Given the description of an element on the screen output the (x, y) to click on. 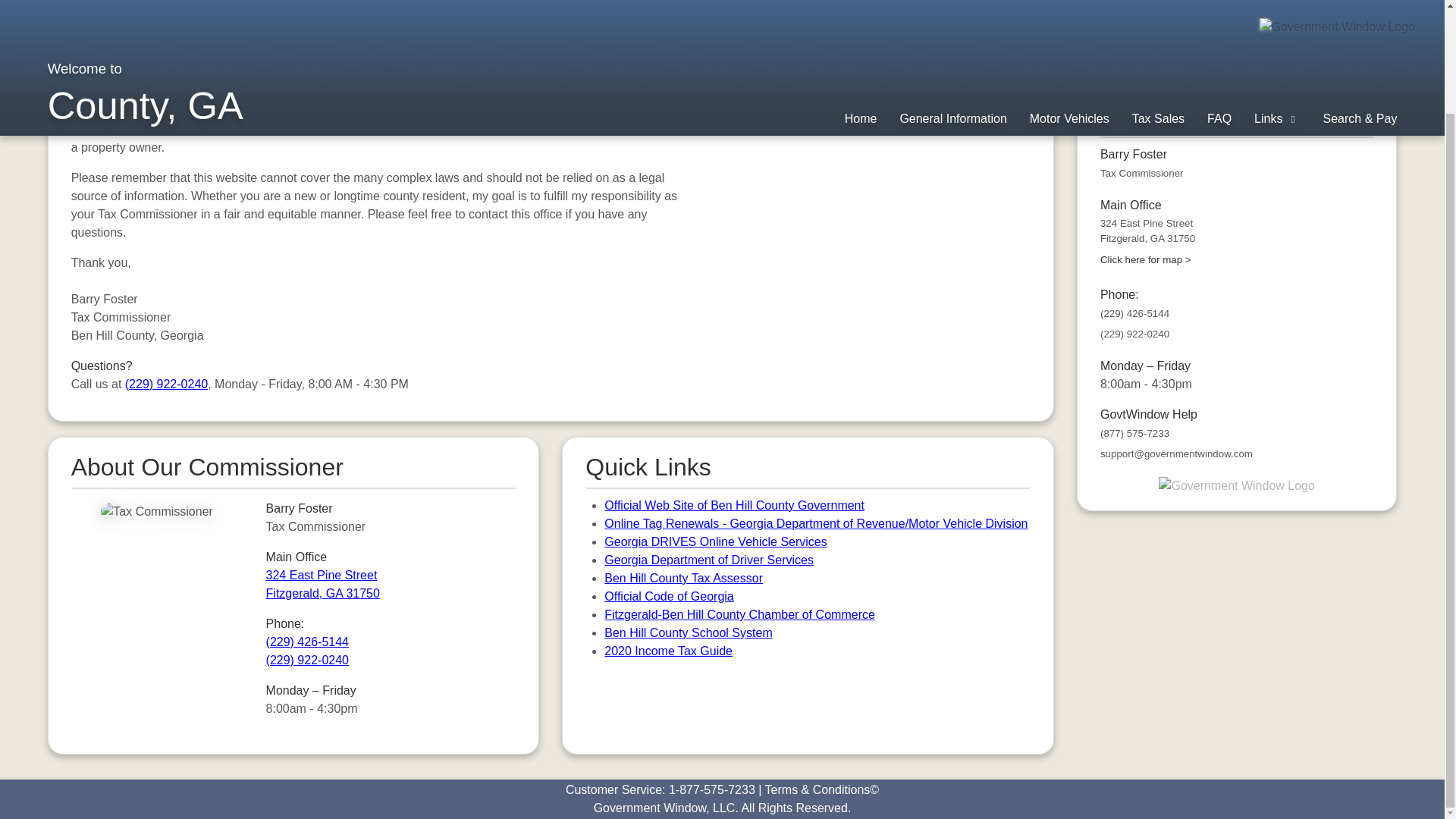
Fitzgerald-Ben Hill County Chamber of Commerce (739, 614)
FAQ (1219, 2)
Motor Vehicles (1069, 2)
General Information (952, 2)
Georgia Department of Driver Services (708, 559)
Ben Hill County Tax Assessor (683, 577)
Links (1276, 2)
Tax Sales (1158, 2)
Home (860, 2)
Georgia DRIVES Online Vehicle Services (323, 583)
Official Code of Georgia (715, 541)
Official Web Site of Ben Hill County Government (668, 595)
